Given the description of an element on the screen output the (x, y) to click on. 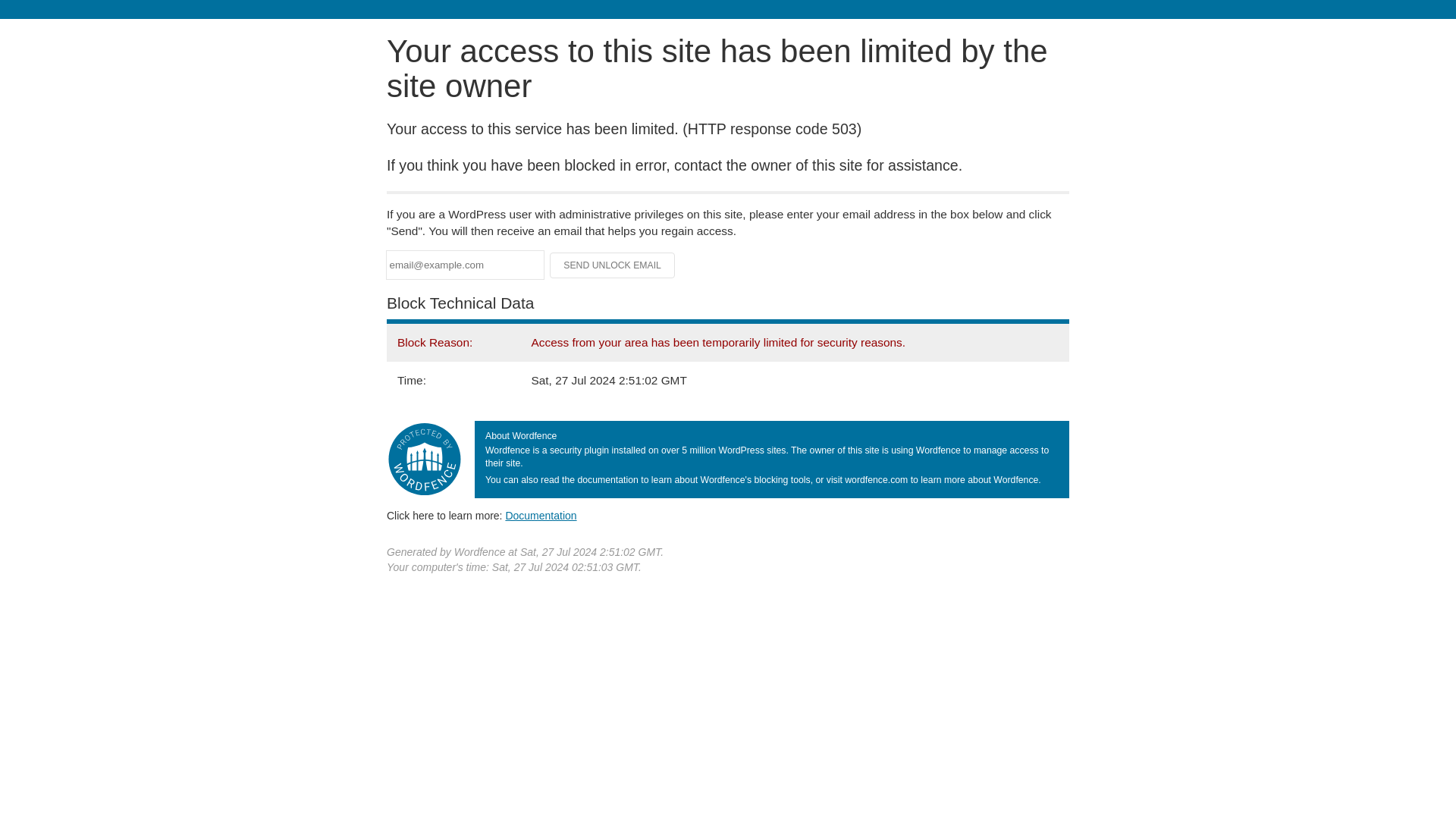
Send Unlock Email (612, 265)
Send Unlock Email (612, 265)
Documentation (540, 515)
